Given the description of an element on the screen output the (x, y) to click on. 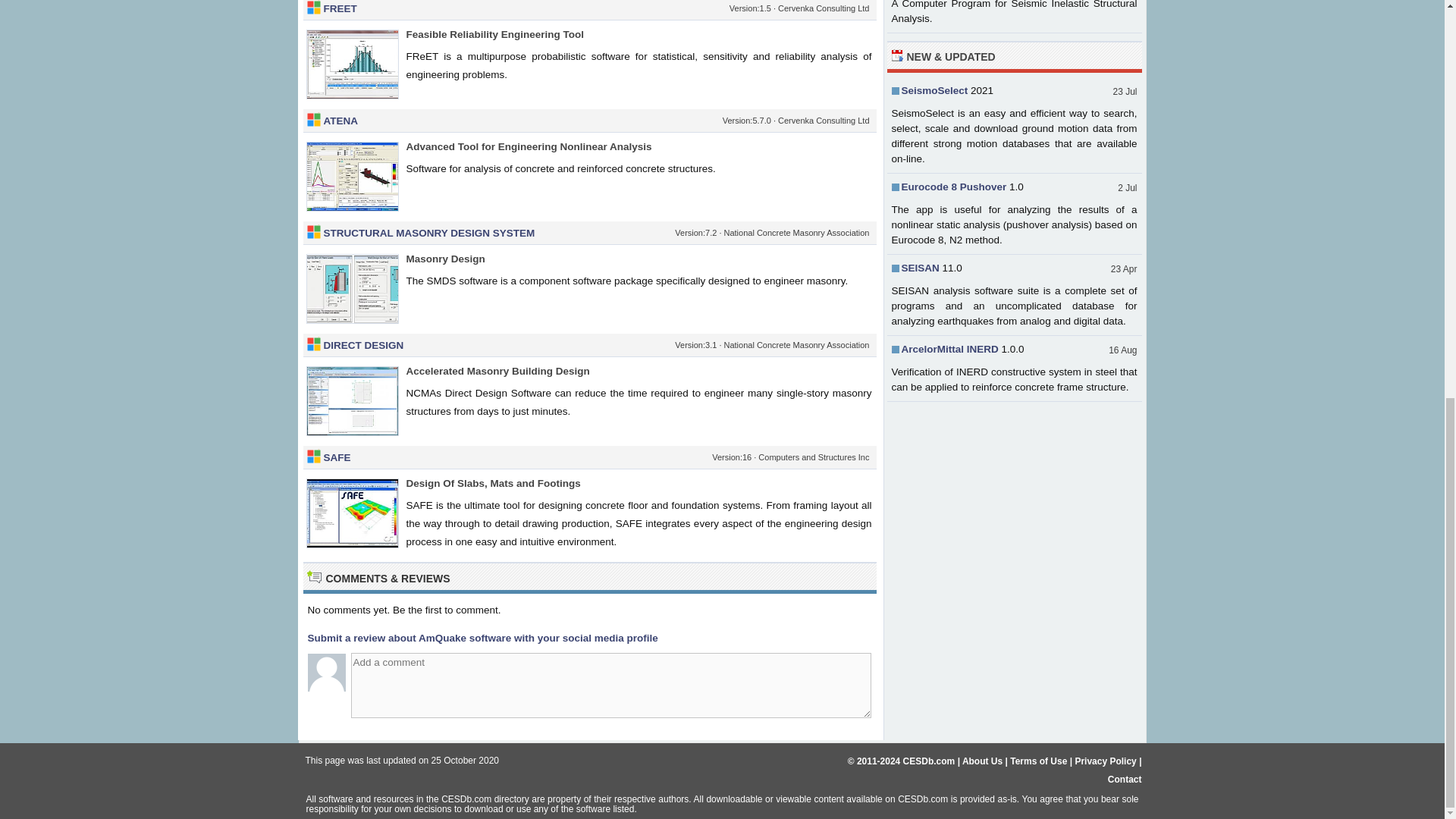
Advanced Tool for Engineering Nonlinear Analysis (529, 146)
FREET (339, 8)
Design Of Slabs, Mats and Footings (493, 482)
Masonry Design (445, 258)
Feasible Reliability Engineering Tool (495, 34)
SAFE (336, 457)
STRUCTURAL MASONRY DESIGN SYSTEM (428, 233)
Accelerated Masonry Building Design (497, 370)
ATENA (340, 120)
DIRECT DESIGN (363, 345)
